Given the description of an element on the screen output the (x, y) to click on. 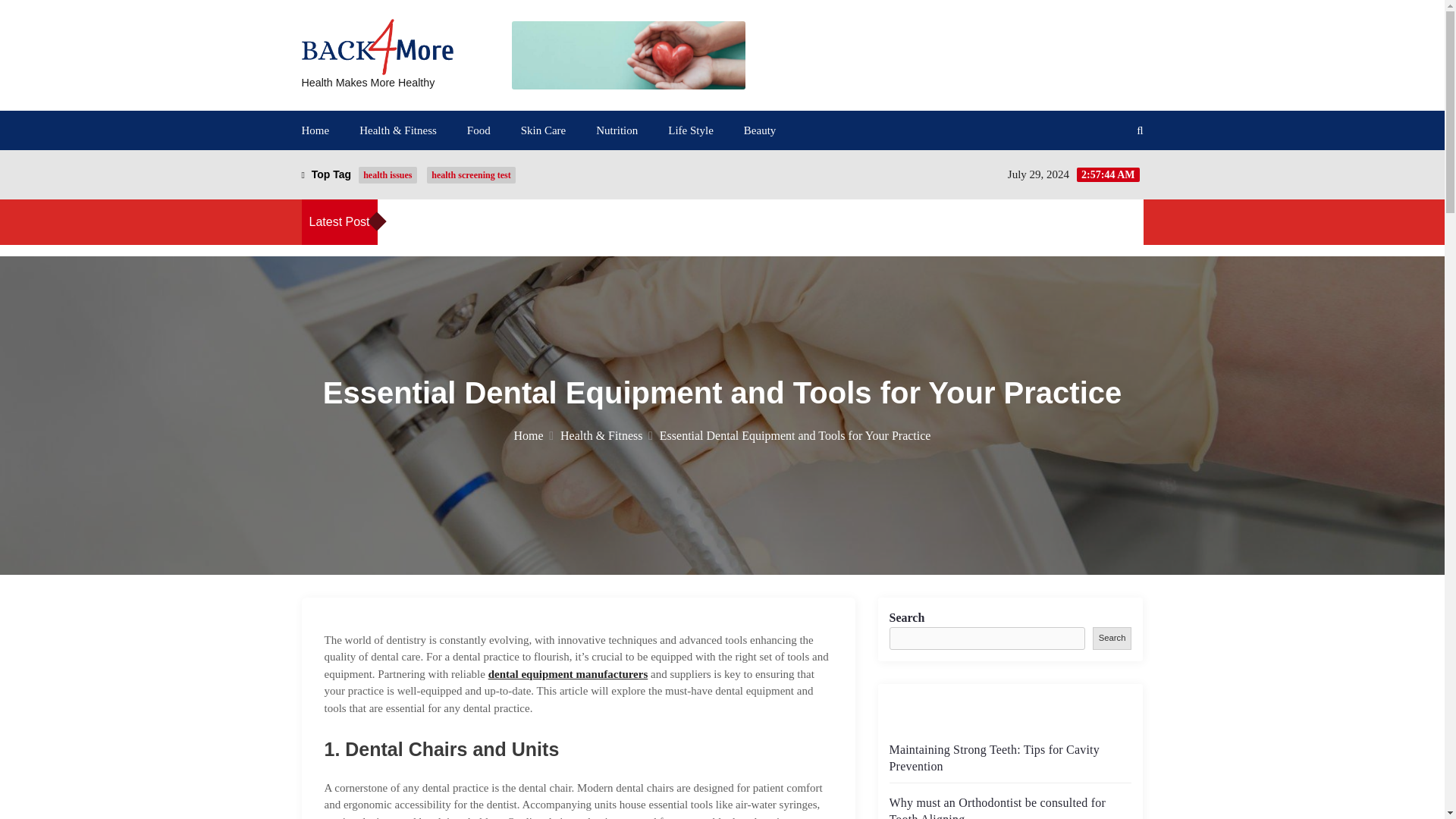
Home (533, 435)
health issues (387, 175)
Nutrition (616, 130)
Why must an Orthodontist be consulted for Tooth Aligning (817, 222)
Home (315, 130)
Maintaining Strong Teeth: Tips for Cavity Prevention (554, 222)
Skin Care (543, 130)
Maintaining Strong Teeth: Tips for Cavity Prevention (1091, 222)
dental equipment manufacturers (567, 674)
Life Style (690, 130)
health screening test (470, 175)
Food (478, 130)
Beauty (760, 130)
